Given the description of an element on the screen output the (x, y) to click on. 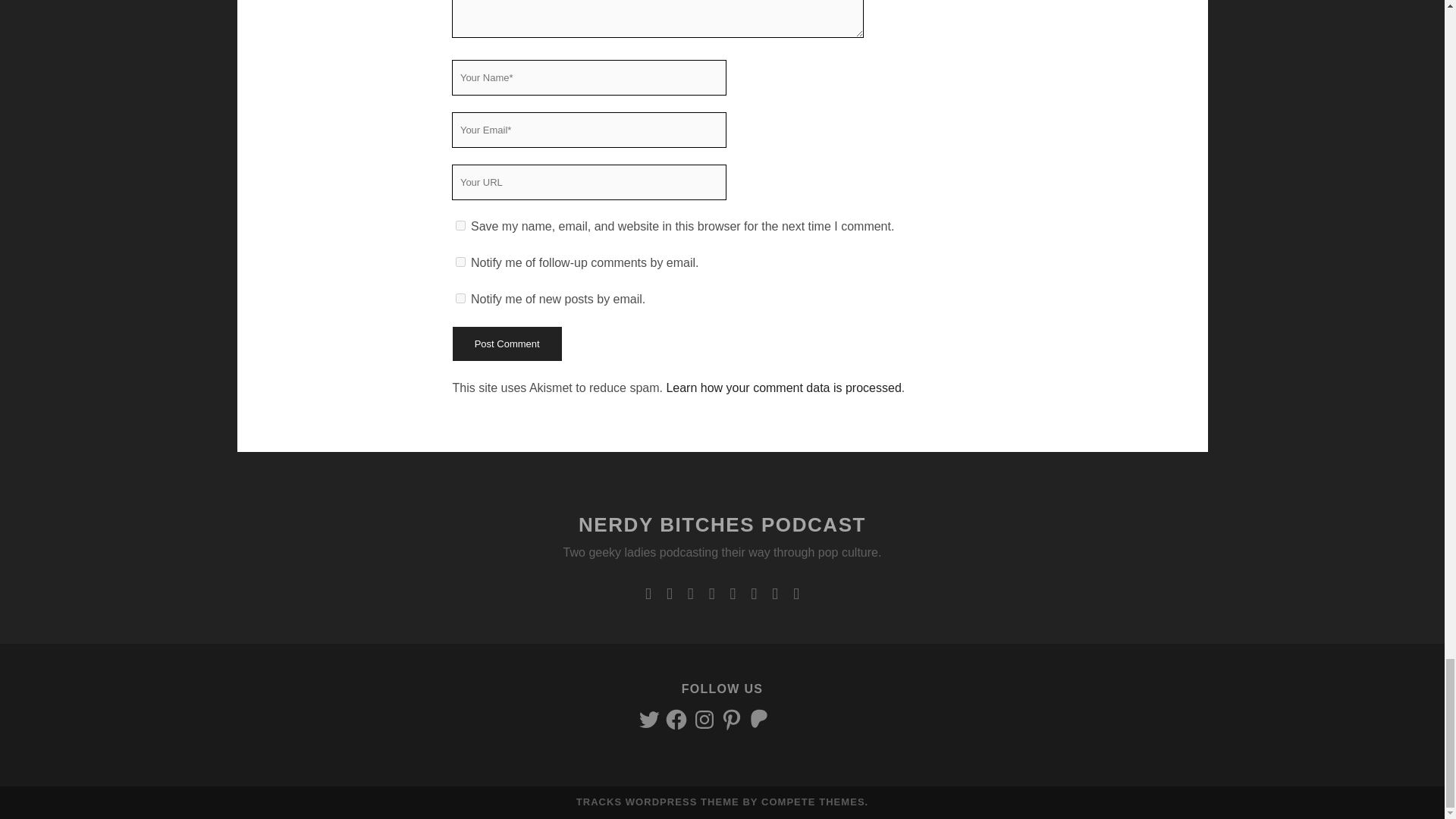
subscribe (459, 298)
subscribe (459, 261)
Post Comment (505, 343)
yes (459, 225)
